Given the description of an element on the screen output the (x, y) to click on. 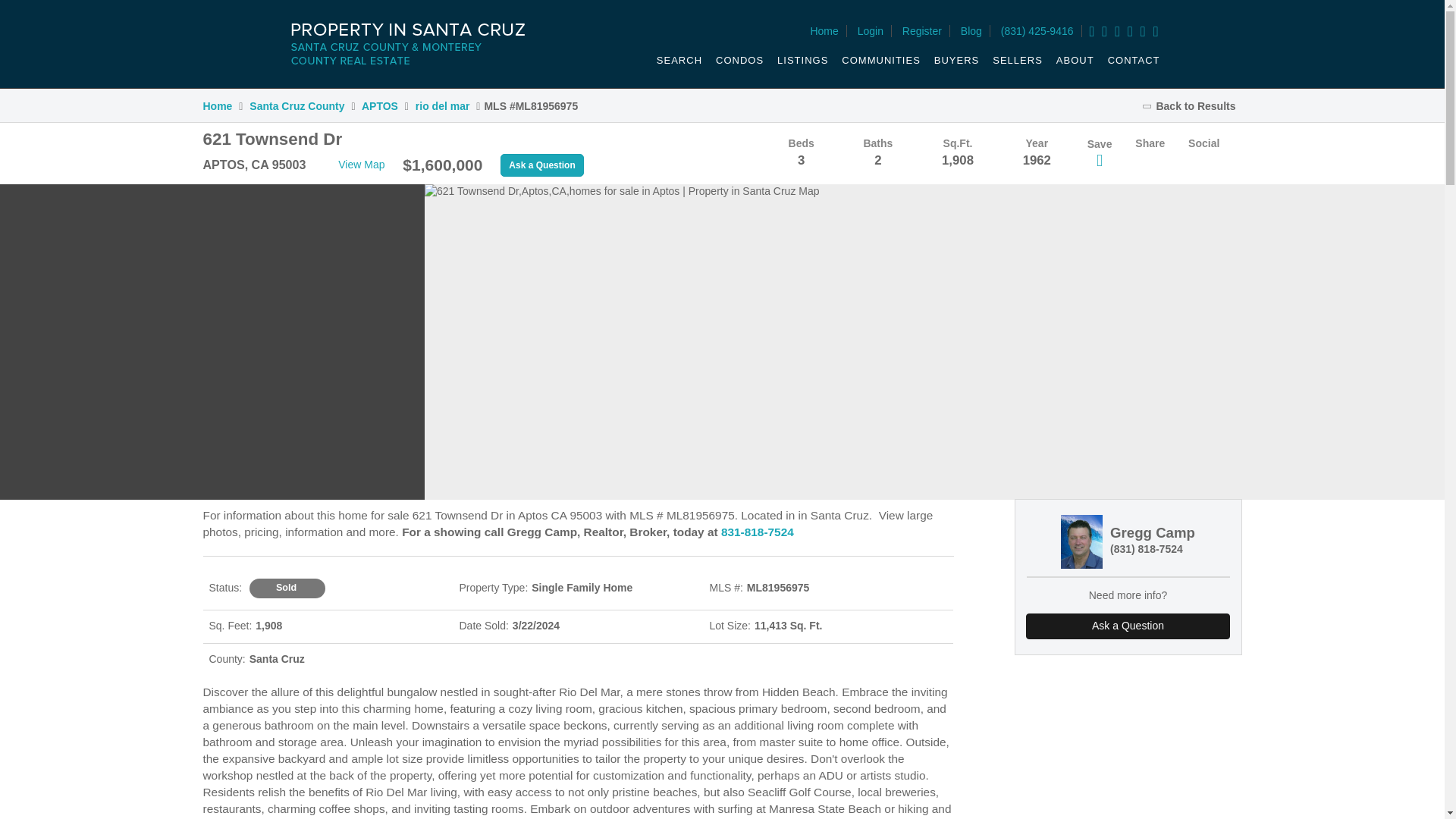
Register (922, 30)
View Map (353, 165)
Login (870, 30)
CONDOS (738, 65)
SEARCH (678, 65)
Home (823, 30)
Blog (971, 30)
LISTINGS (802, 65)
COMMUNITIES (880, 65)
